Given the description of an element on the screen output the (x, y) to click on. 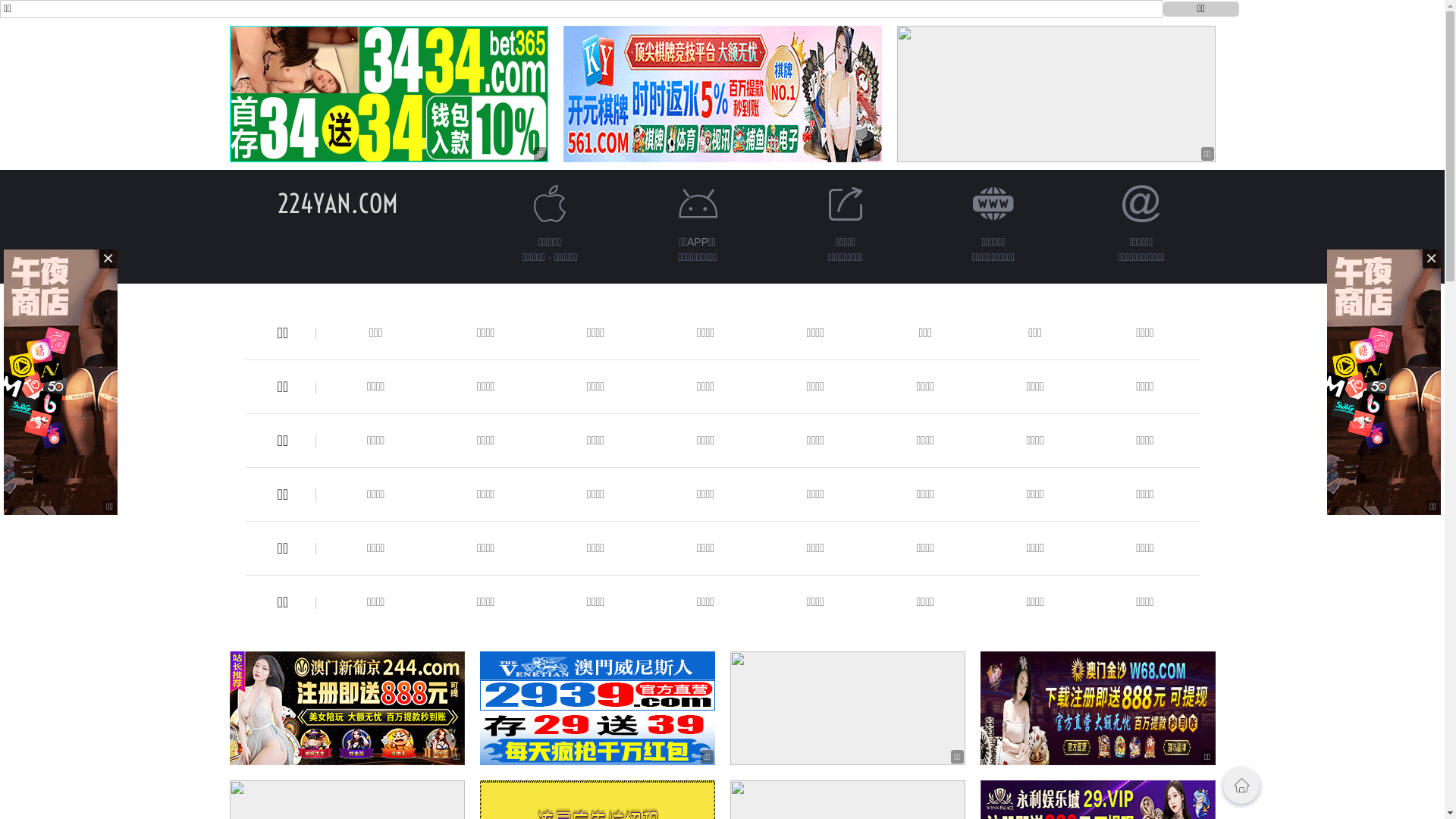
224YAN.COM Element type: text (337, 203)
